Given the description of an element on the screen output the (x, y) to click on. 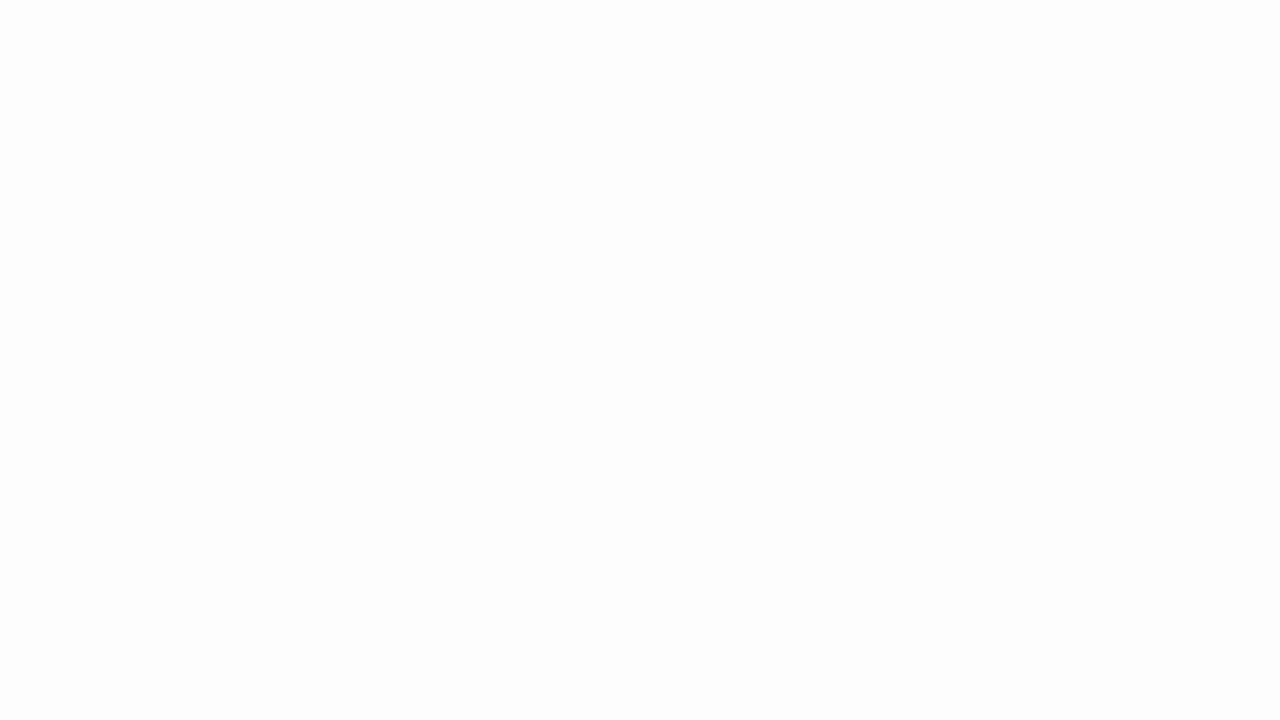
Underline (239, 119)
Borders (285, 119)
Font Size (365, 87)
Align Right (509, 119)
Increase Decimal (836, 119)
Copy (78, 103)
Paste (28, 84)
Italic (207, 119)
Accounting Number Format (749, 119)
Decrease Font Size (424, 87)
Font (256, 87)
